Given the description of an element on the screen output the (x, y) to click on. 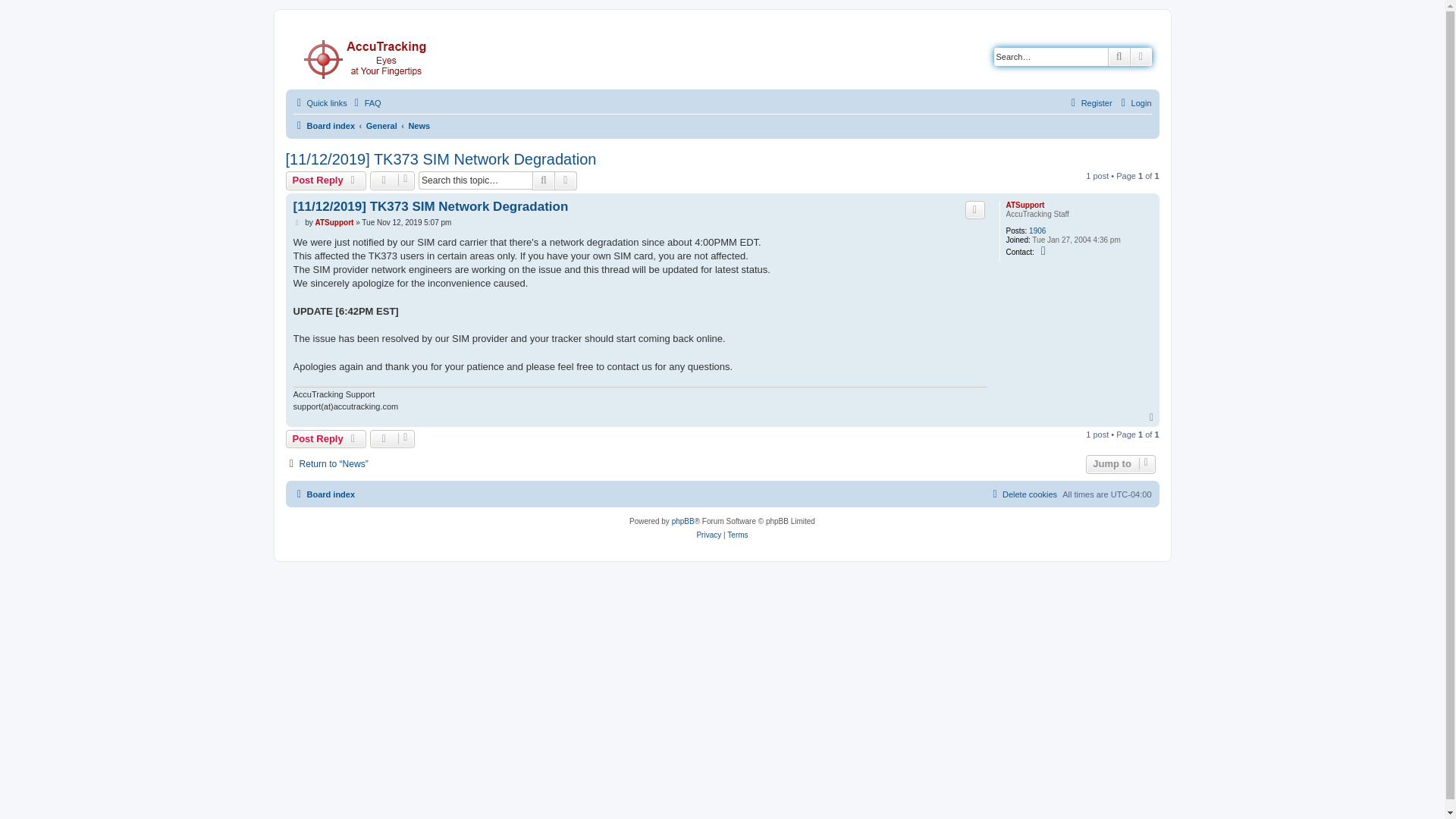
Post (297, 222)
Login (1134, 103)
Advanced search (565, 180)
Contact ATSupport (1044, 250)
News (418, 126)
FAQ (365, 103)
Contact ATSupport (1044, 250)
Reply with quote (975, 209)
Login (1134, 103)
Top (1151, 417)
Post a reply (325, 180)
Search (543, 180)
Quote (975, 209)
Frequently Asked Questions (365, 103)
Topic tools (391, 180)
